Given the description of an element on the screen output the (x, y) to click on. 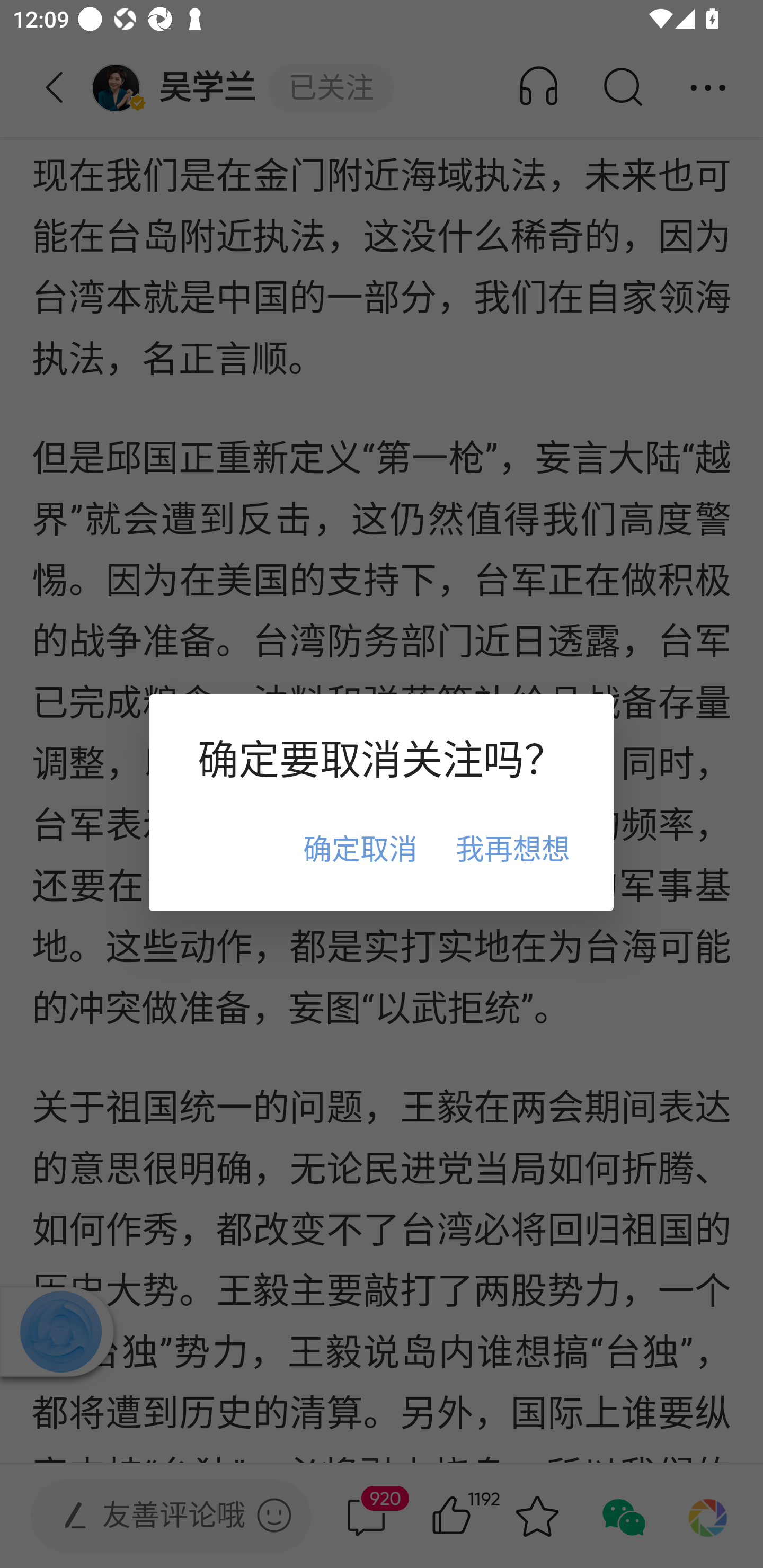
确定取消 (359, 848)
我再想想 (512, 848)
